Given the description of an element on the screen output the (x, y) to click on. 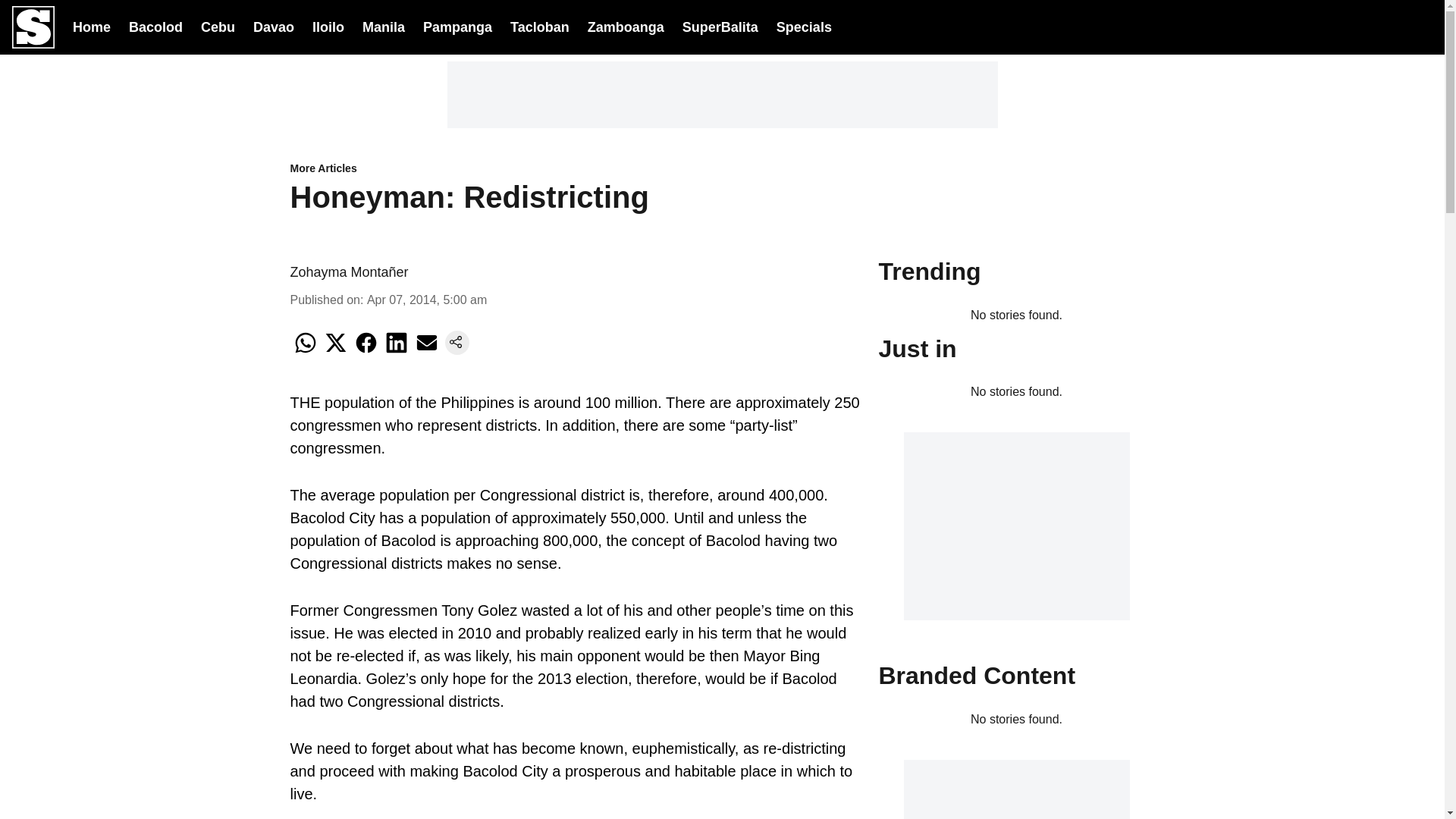
Pampanga (457, 26)
Bacolod (156, 26)
SuperBalita (720, 27)
Home (91, 26)
Iloilo (328, 26)
Davao (273, 26)
More Articles (574, 169)
Manila (383, 26)
Zamboanga (625, 26)
Cebu (217, 26)
